Given the description of an element on the screen output the (x, y) to click on. 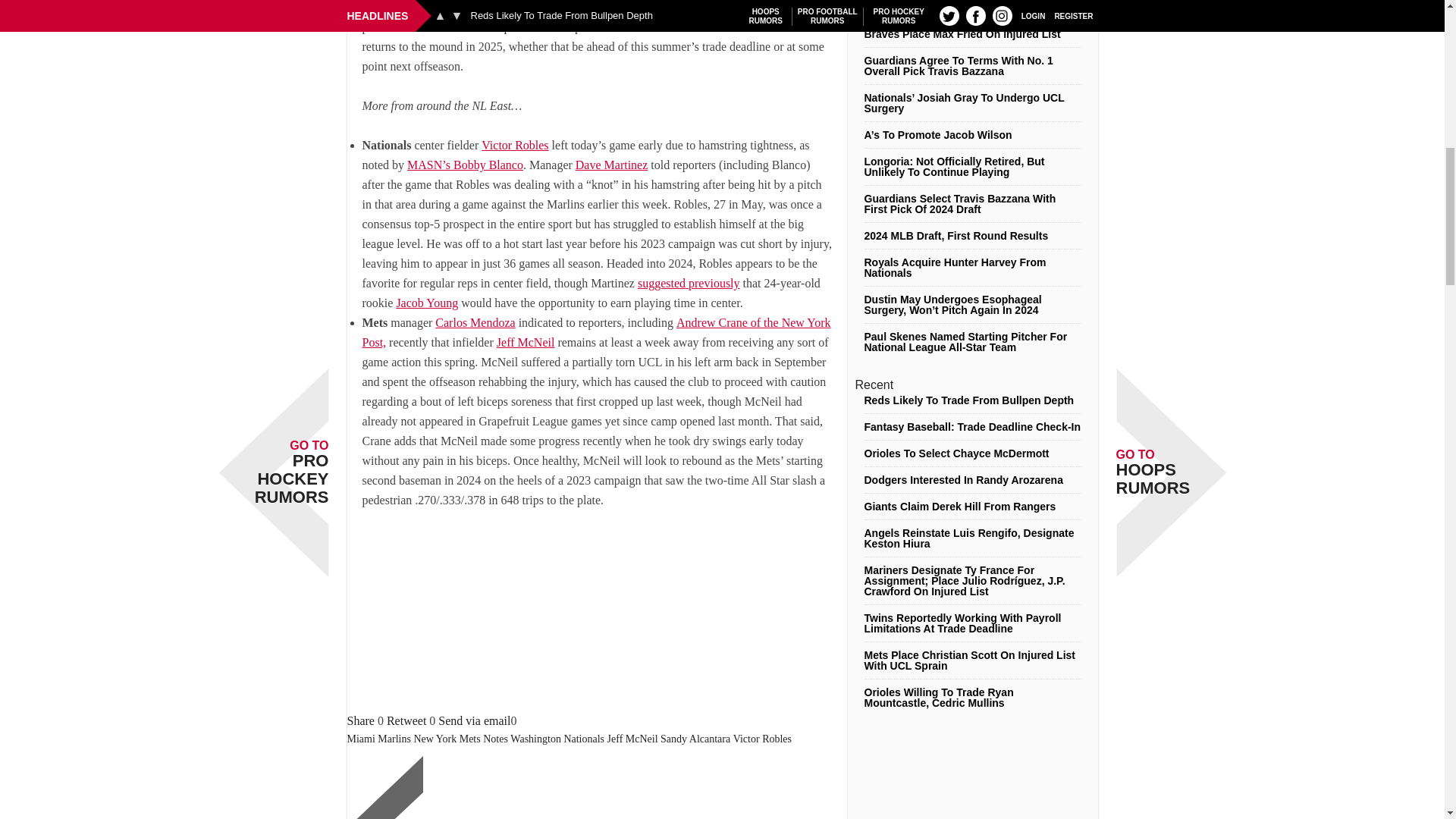
Share 'NL East Notes: Alcantara, Robles, McNeil' on Facebook (360, 720)
Send NL East Notes: Alcantara, Robles, McNeil with an email (474, 720)
